Given the description of an element on the screen output the (x, y) to click on. 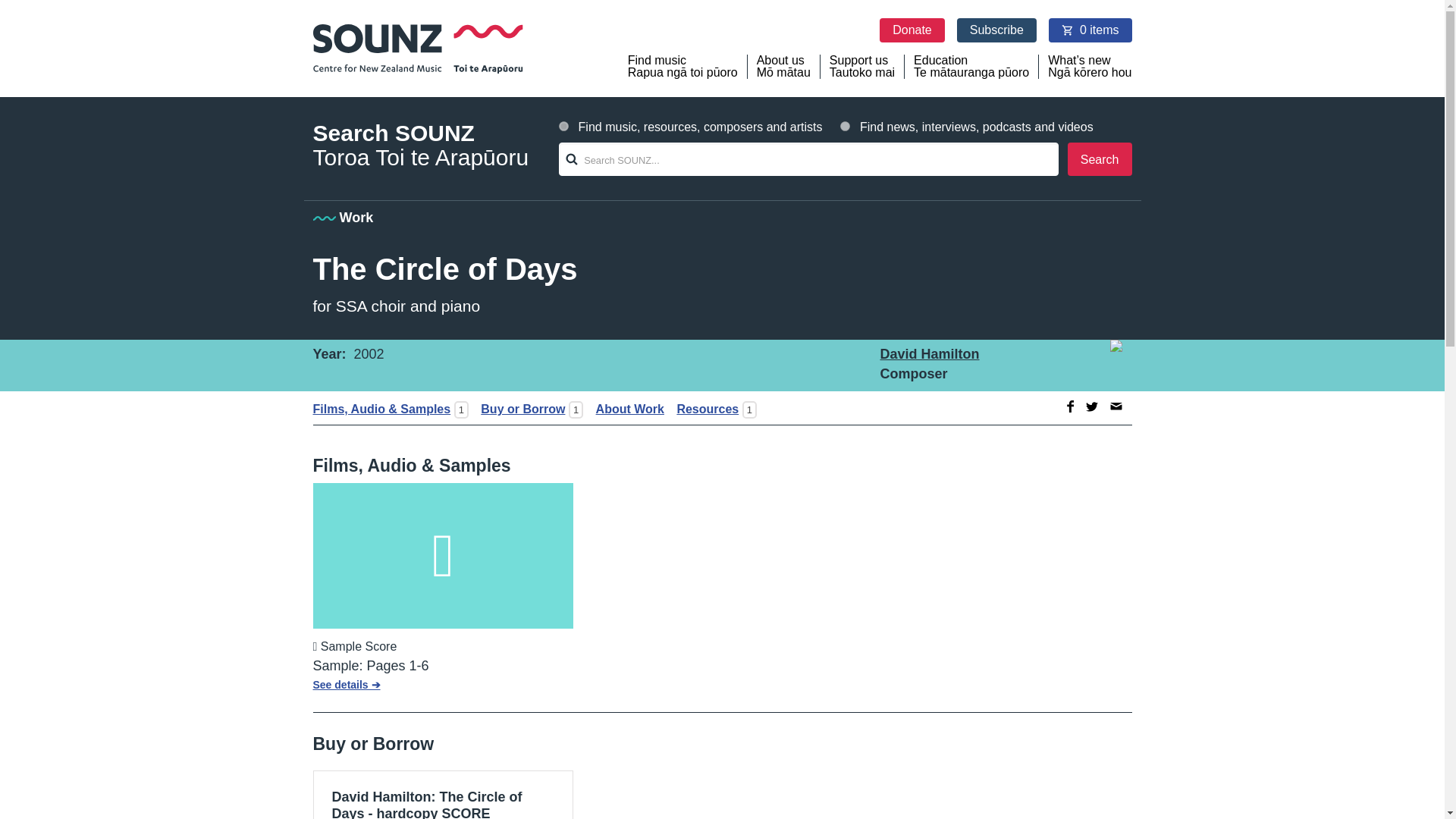
Subscribe (996, 30)
Donate (911, 30)
content (845, 126)
Share to Facebook (1067, 406)
Share to Twitter (1091, 406)
Buy or Borrow (517, 408)
catalogue (564, 126)
0 items (1090, 30)
David Hamilton (928, 353)
Share to Email (1115, 406)
Resources (702, 408)
Search (1099, 159)
About Work (624, 408)
